Given the description of an element on the screen output the (x, y) to click on. 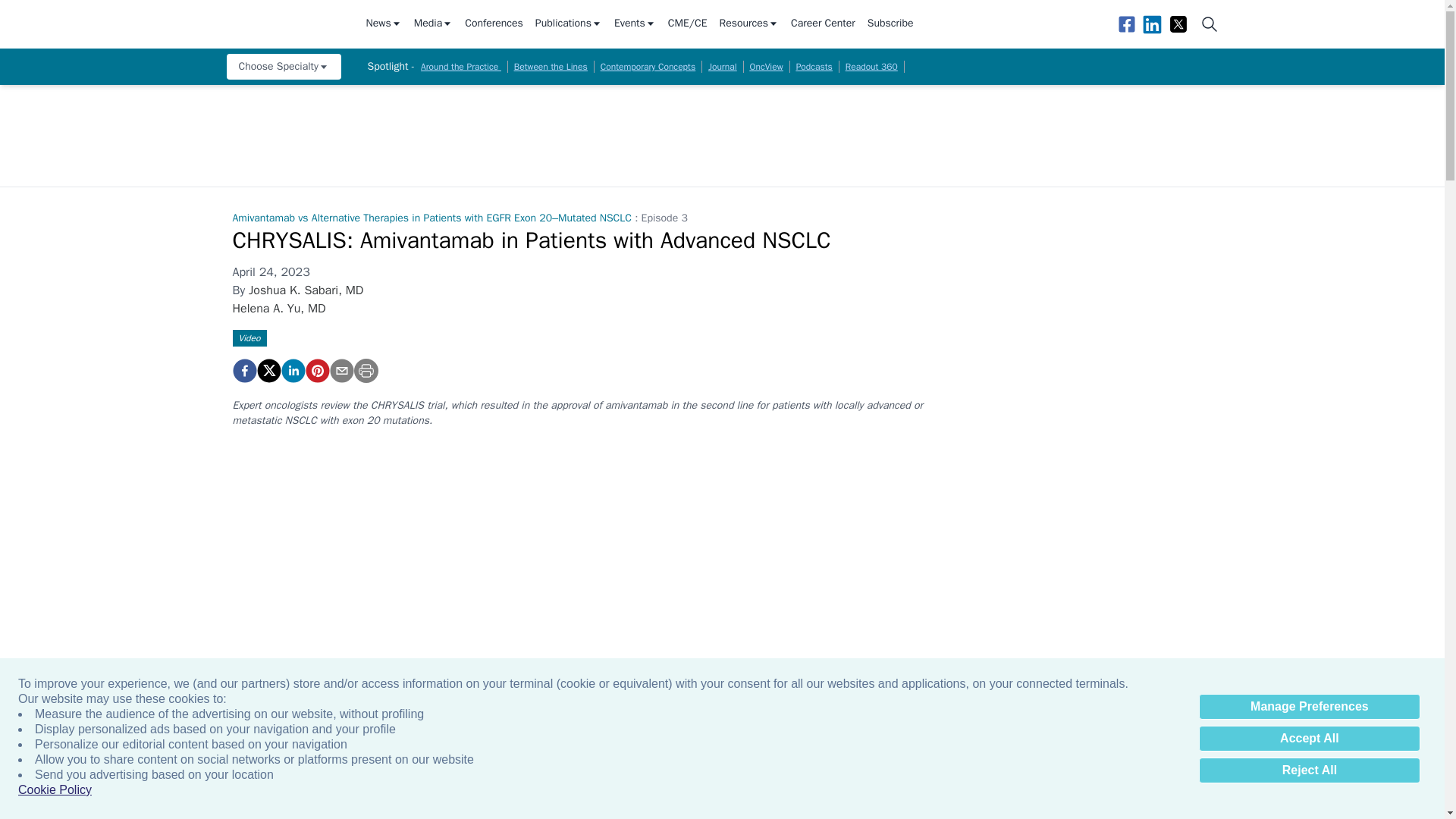
Accept All (1309, 738)
Conferences (493, 23)
Media (432, 23)
CHRYSALIS: Amivantamab in Patients with Advanced NSCLC (316, 370)
Reject All (1309, 769)
Resources (748, 23)
Publications (568, 23)
Events (635, 23)
Manage Preferences (1309, 706)
Cookie Policy (54, 789)
News (383, 23)
CHRYSALIS: Amivantamab in Patients with Advanced NSCLC (243, 370)
